Given the description of an element on the screen output the (x, y) to click on. 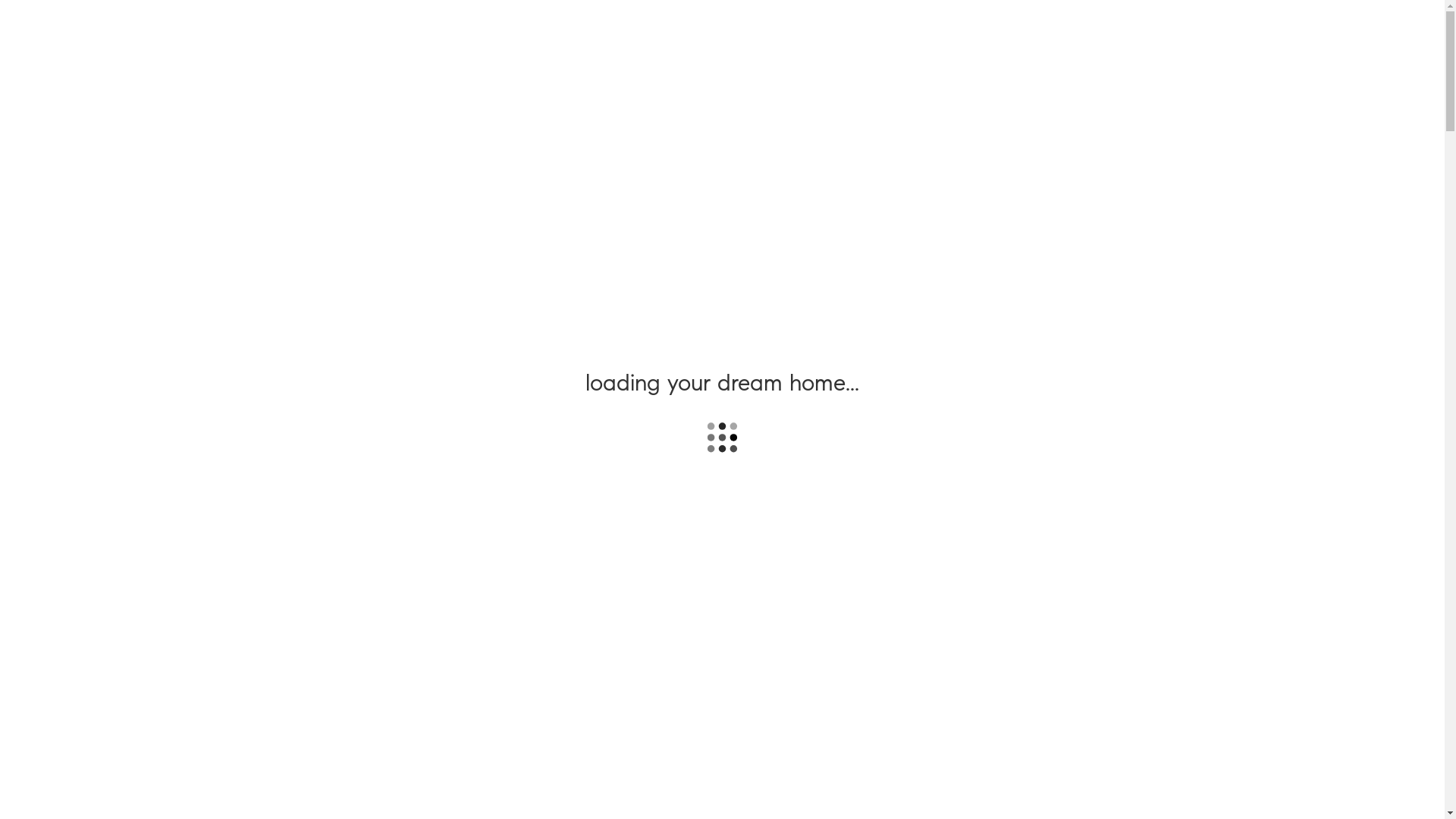
251 Harold Avenue Element type: text (352, 34)
LOCATION Element type: text (882, 37)
SCHEDULE & CONTACT Element type: text (983, 37)
FLOOR PLANS Element type: text (734, 37)
GALLERY Element type: text (657, 37)
FEATURES Element type: text (812, 37)
251 HAROLD AVENUE Element type: text (722, 511)
